Given the description of an element on the screen output the (x, y) to click on. 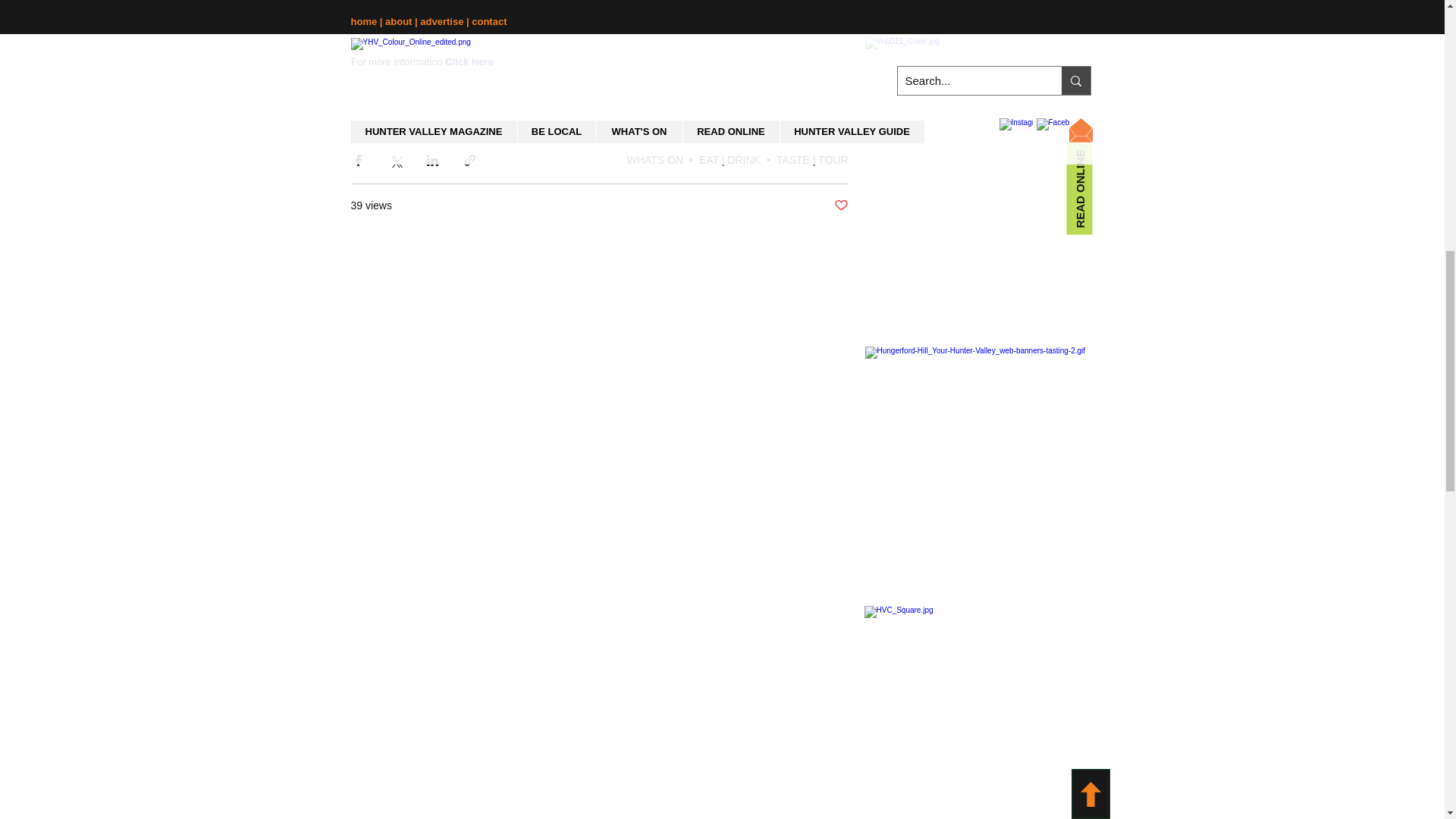
lick Here (472, 61)
WHATS ON (654, 159)
